Given the description of an element on the screen output the (x, y) to click on. 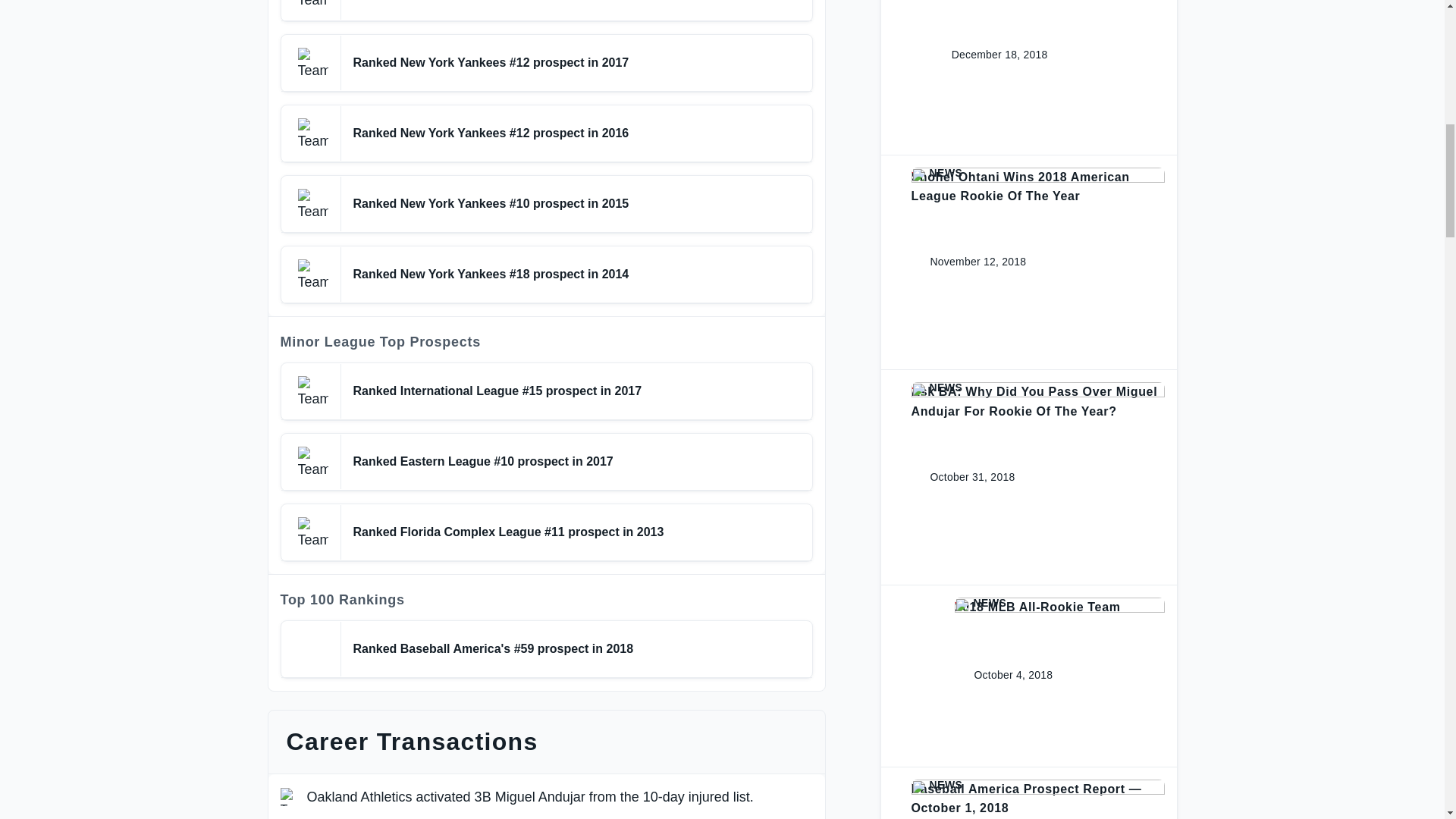
Post category (1037, 173)
Post date (987, 54)
Post category (1037, 387)
Post category (1059, 603)
Post category (1037, 785)
Post date (1000, 675)
Post date (965, 261)
Post date (959, 477)
